Given the description of an element on the screen output the (x, y) to click on. 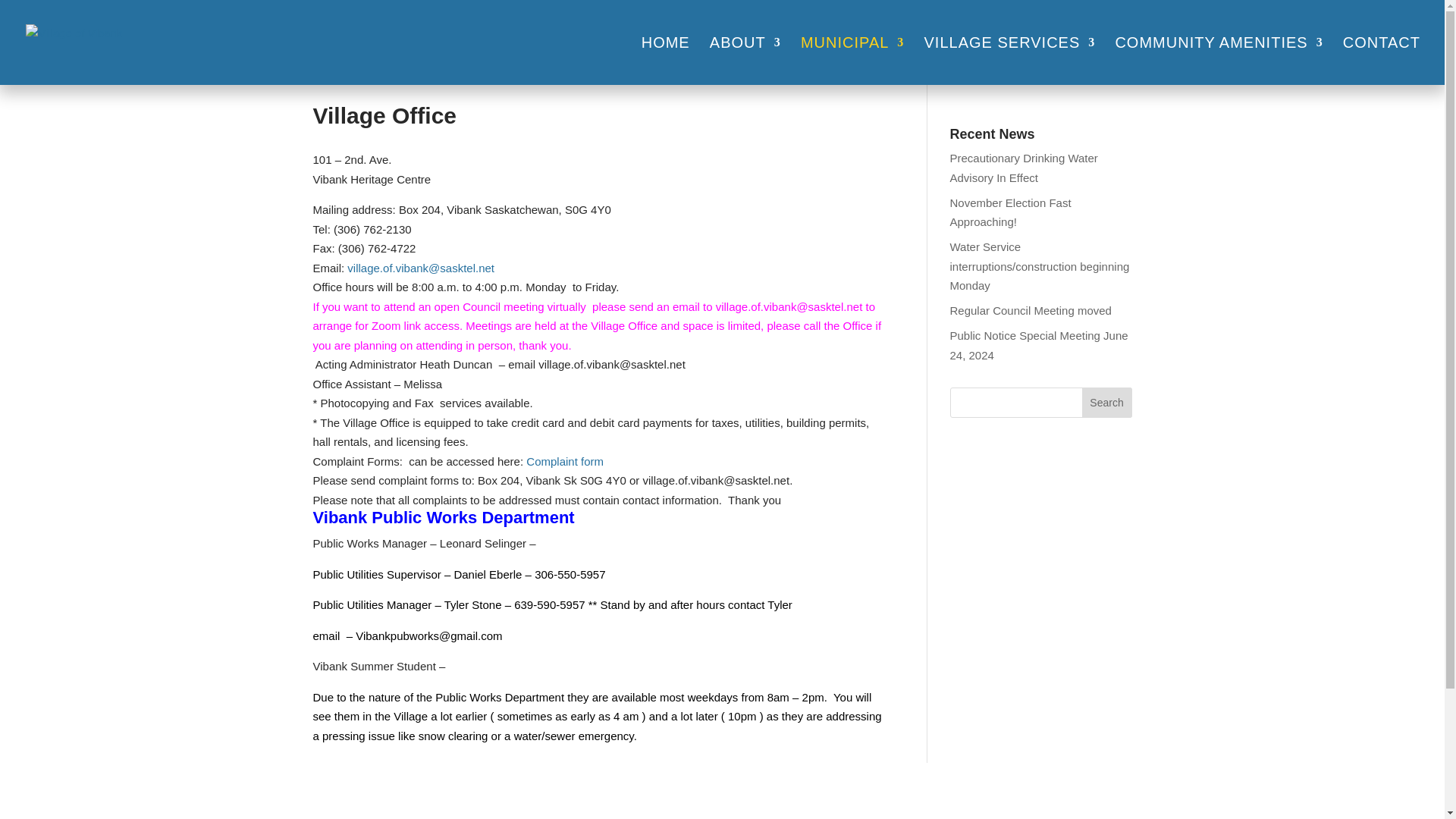
Complaint form (564, 461)
Precautionary Drinking Water Advisory In Effect (1023, 167)
ABOUT (745, 60)
Public Notice Special Meeting June 24, 2024 (1037, 345)
November Election Fast Approaching! (1009, 211)
Search (1106, 402)
MUNICIPAL (852, 60)
Regular Council Meeting moved (1029, 309)
HOME (666, 60)
VILLAGE SERVICES (1010, 60)
